Given the description of an element on the screen output the (x, y) to click on. 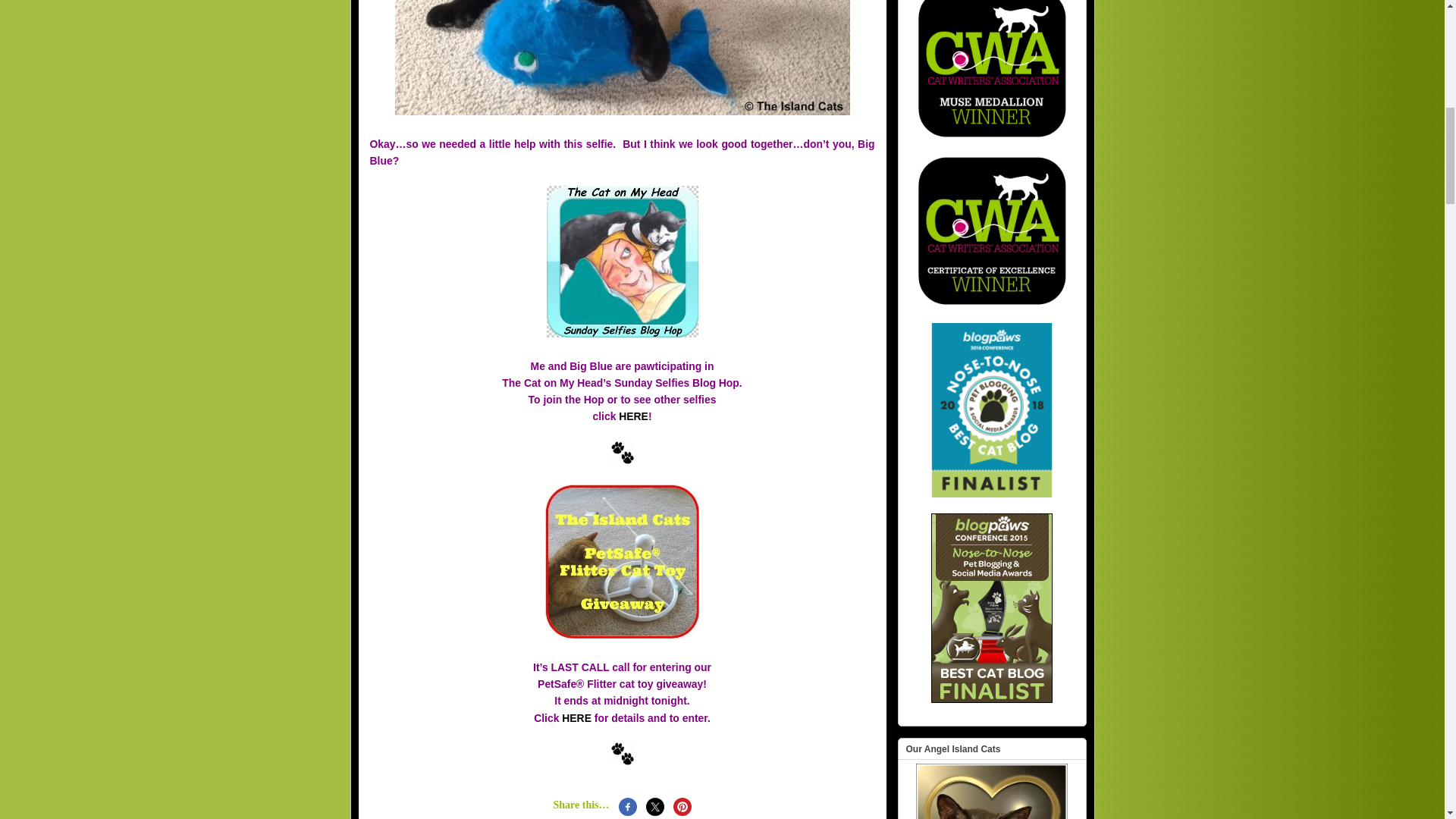
HERE (632, 416)
HERE (576, 717)
